Given the description of an element on the screen output the (x, y) to click on. 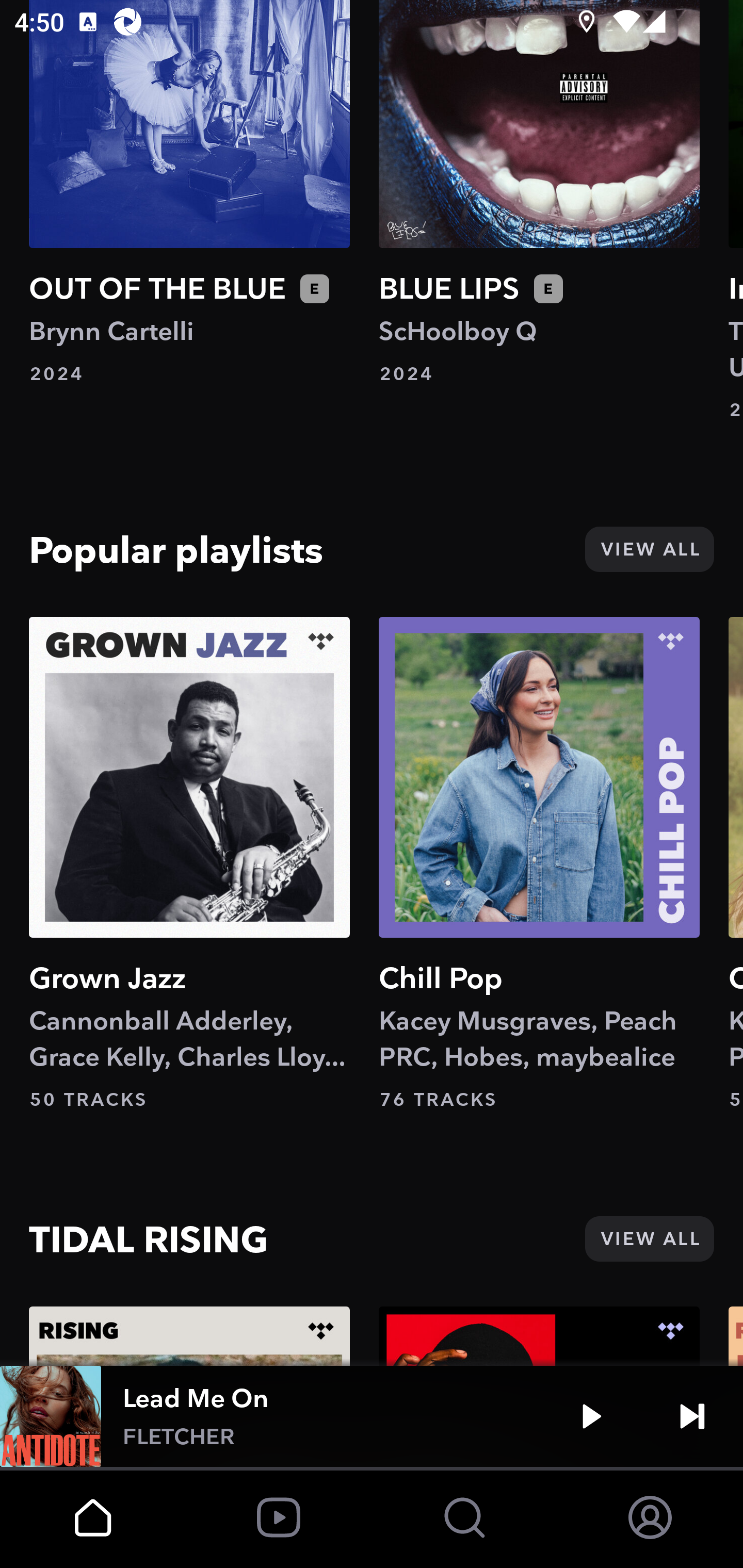
OUT OF THE BLUE Brynn Cartelli 2024 (188, 192)
BLUE LIPS ScHoolboy Q 2024 (538, 192)
VIEW ALL (649, 549)
VIEW ALL (649, 1239)
Lead Me On FLETCHER Play (371, 1416)
Play (590, 1416)
